Given the description of an element on the screen output the (x, y) to click on. 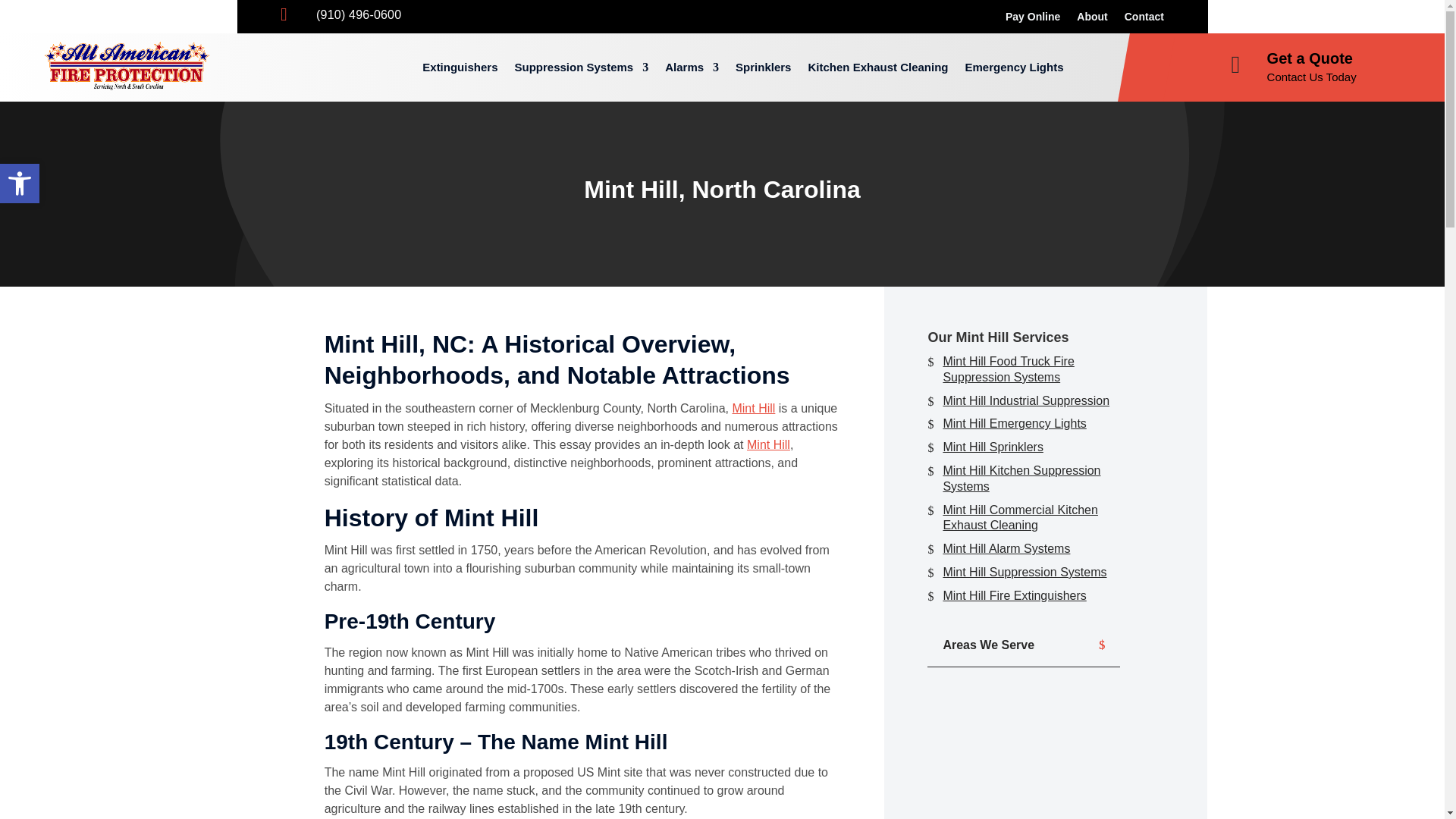
Suppression Systems (580, 67)
Emergency Lights (1012, 67)
Kitchen Exhaust Cleaning (877, 67)
Accessibility Tools (19, 183)
About (1091, 19)
